Given the description of an element on the screen output the (x, y) to click on. 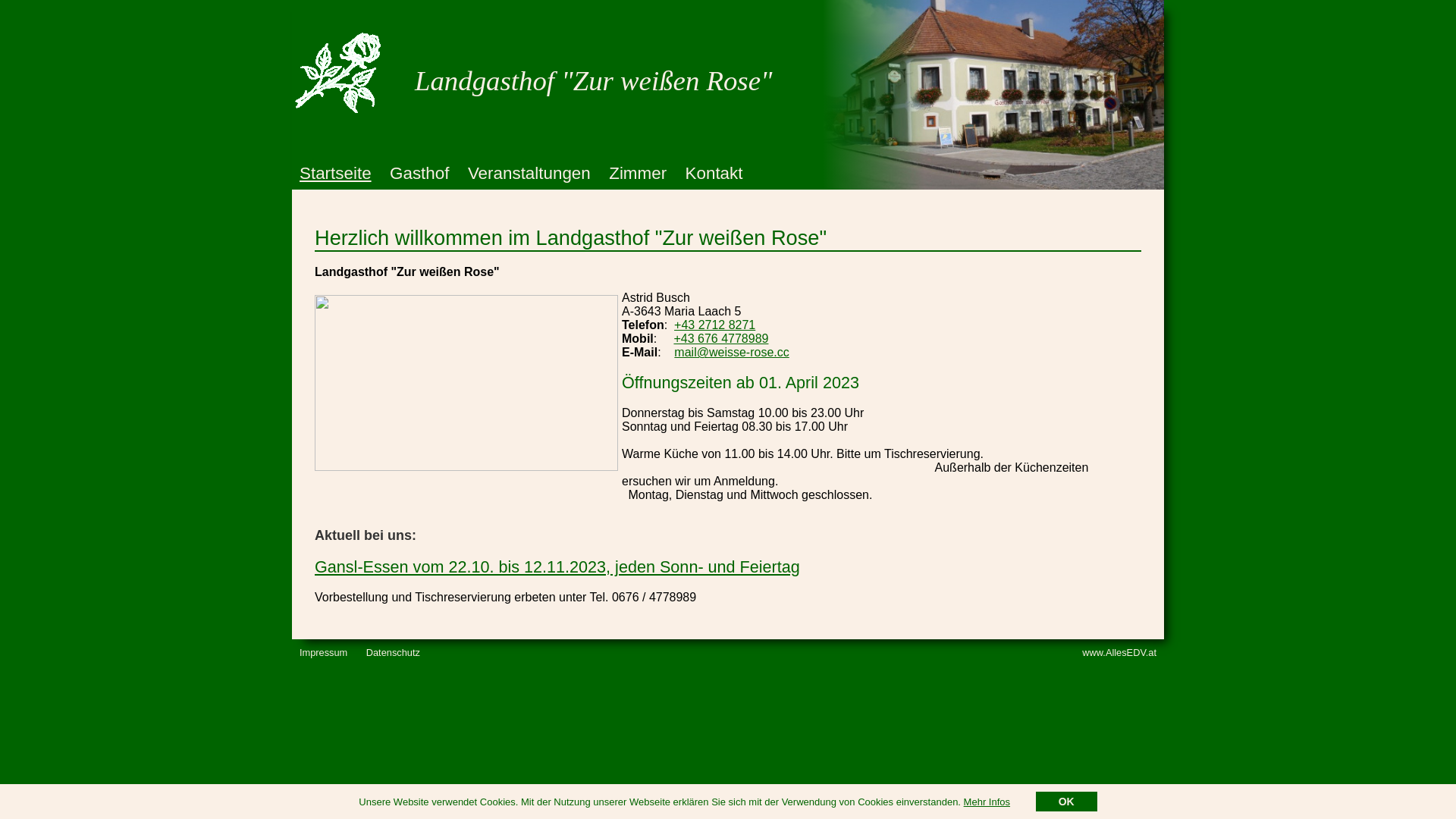
mail@weisse-rose.cc Element type: text (731, 351)
OK Element type: text (1066, 801)
Zimmer Element type: text (637, 172)
Mehr Infos Element type: text (986, 801)
Gasthof Element type: text (418, 172)
Kontakt Element type: text (714, 172)
Datenschutz Element type: text (393, 652)
Startseite Element type: text (335, 172)
+43 2712 8271 Element type: text (714, 324)
Veranstaltungen Element type: text (528, 172)
+43 676 4778989 Element type: text (720, 338)
www.AllesEDV.at Element type: text (1119, 652)
Impressum Element type: text (323, 652)
